Given the description of an element on the screen output the (x, y) to click on. 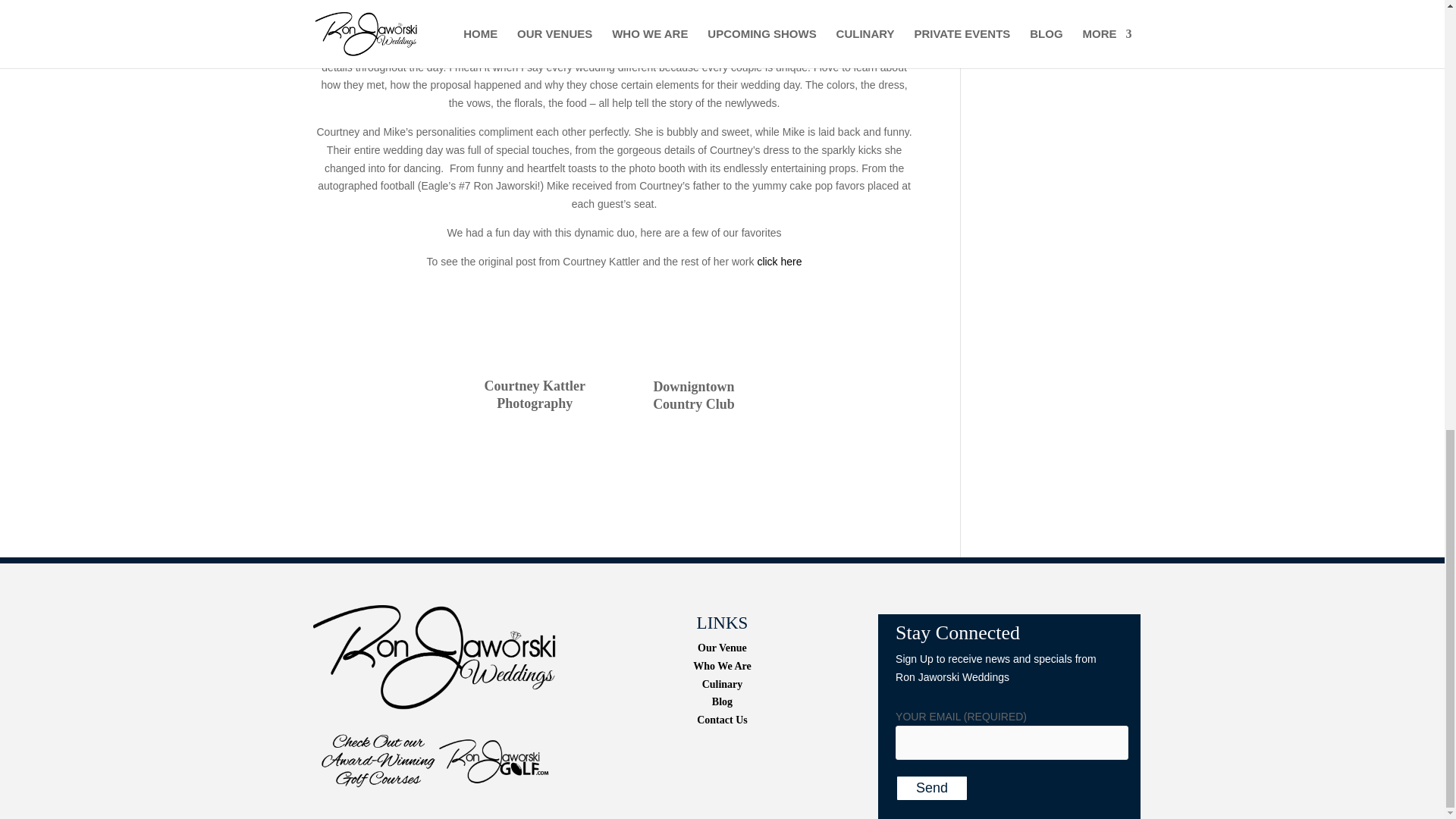
Our Venue (721, 647)
Send (931, 787)
Who We Are (722, 665)
Send (931, 787)
Blog (721, 701)
Contact Us (722, 719)
Culinary (721, 684)
click here (779, 261)
RJG Web Clickthrough (433, 760)
